Given the description of an element on the screen output the (x, y) to click on. 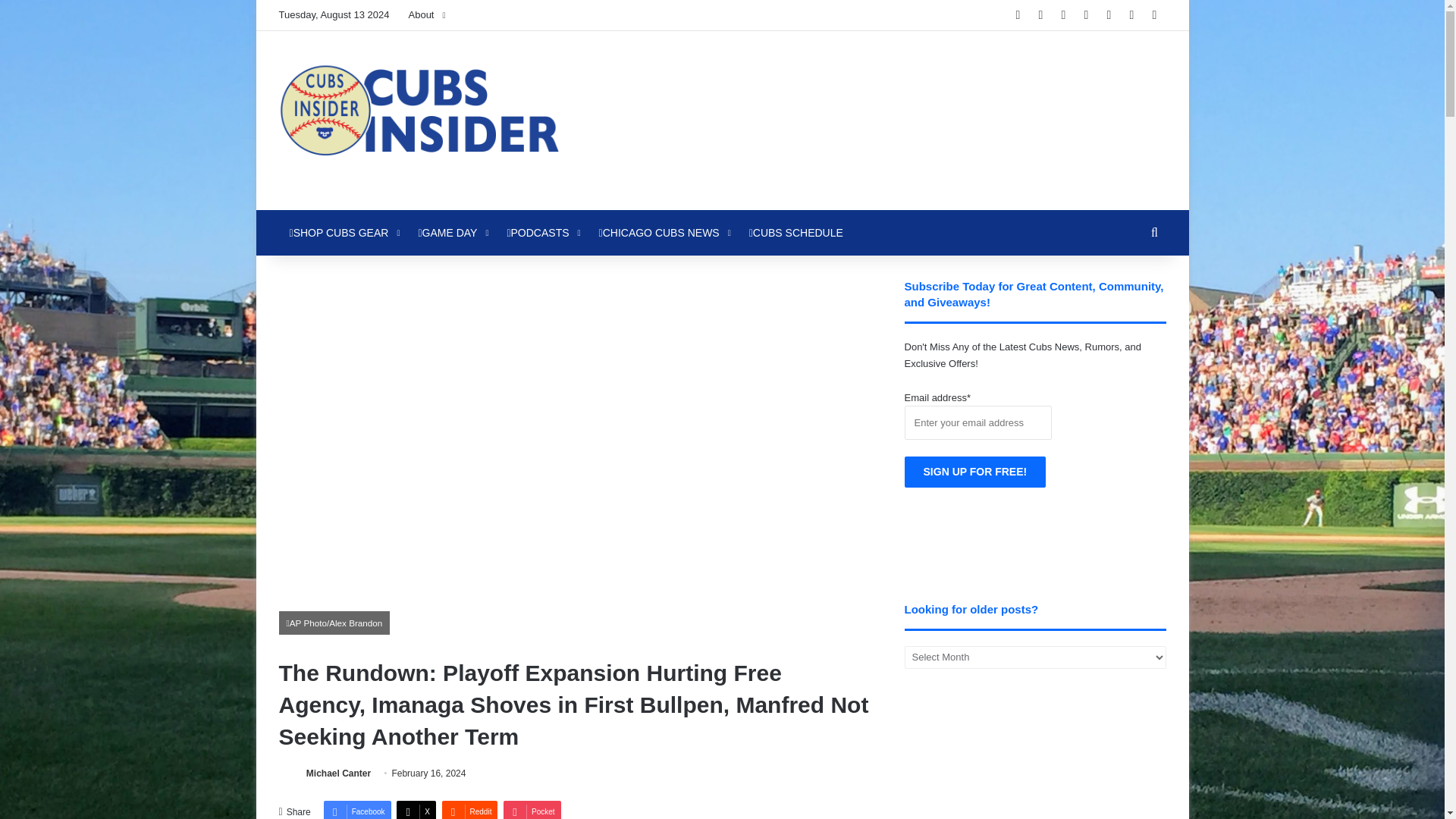
Facebook (357, 809)
GAME DAY (451, 232)
Michael Canter (338, 773)
Reddit (469, 809)
CUBS SCHEDULE (795, 232)
CHICAGO CUBS NEWS (663, 232)
Cubs Insider (419, 120)
About (426, 15)
Facebook (357, 809)
Pocket (531, 809)
